Given the description of an element on the screen output the (x, y) to click on. 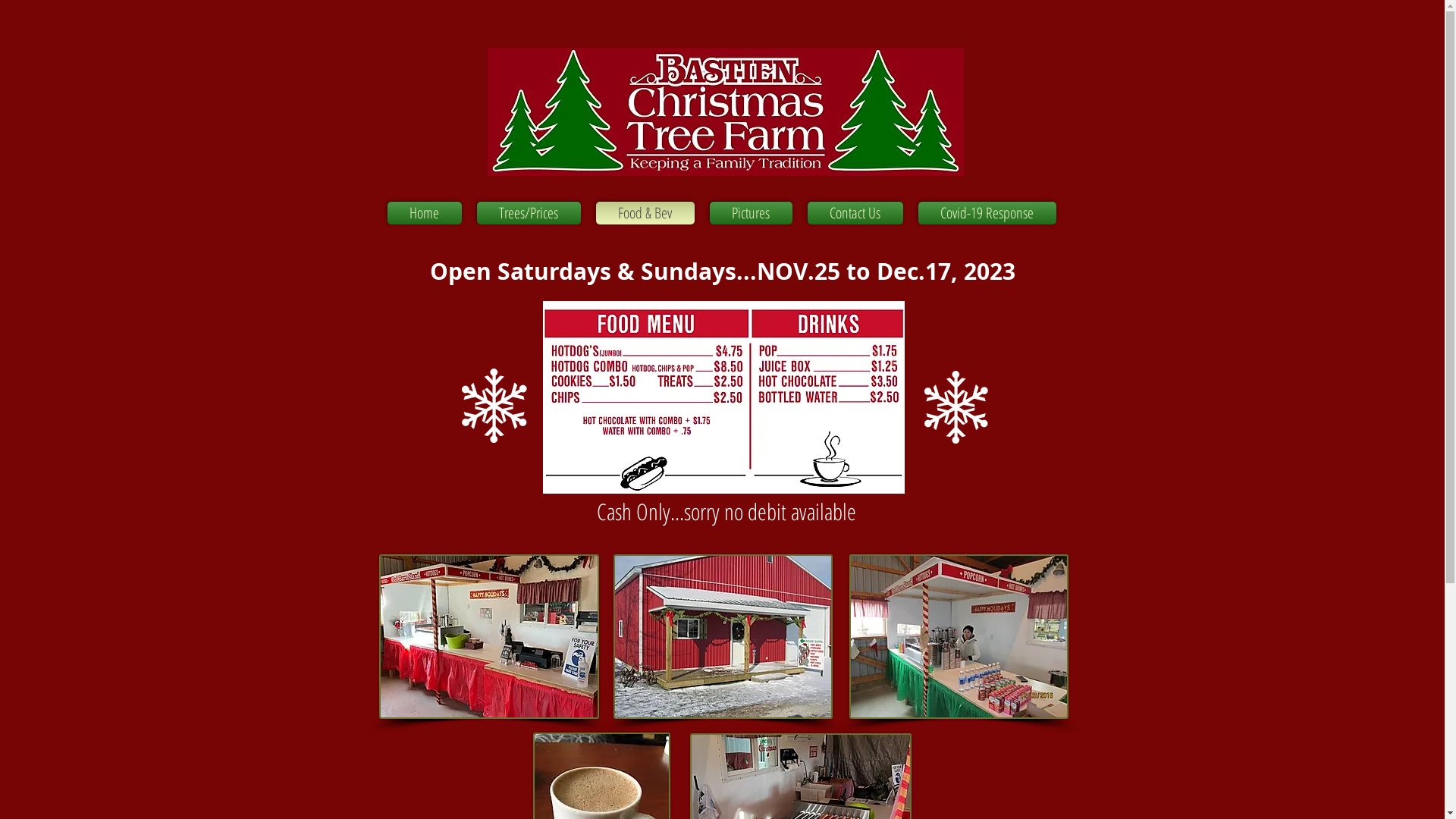
Food & Bev Element type: text (645, 212)
Nov. 21 2014 002.JPG Element type: hover (489, 636)
Contact Us Element type: text (854, 212)
Covid-19 Response Element type: text (982, 212)
Home Element type: text (427, 212)
Pictures Element type: text (751, 212)
Trees/Prices Element type: text (527, 212)
Bastien Tree Farm Web Site.JPG Element type: hover (724, 111)
